Given the description of an element on the screen output the (x, y) to click on. 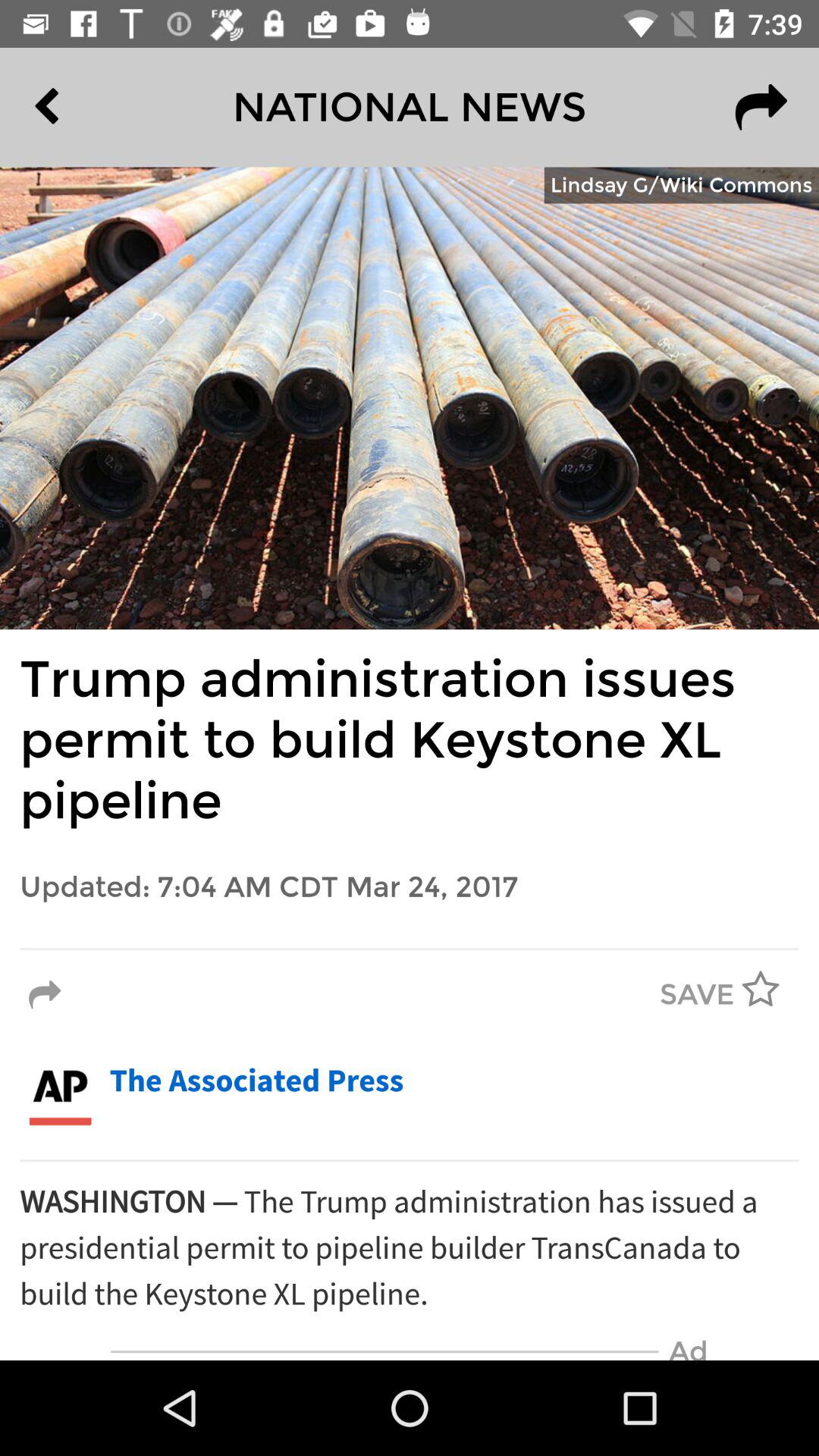
open the item at the top left corner (81, 107)
